Given the description of an element on the screen output the (x, y) to click on. 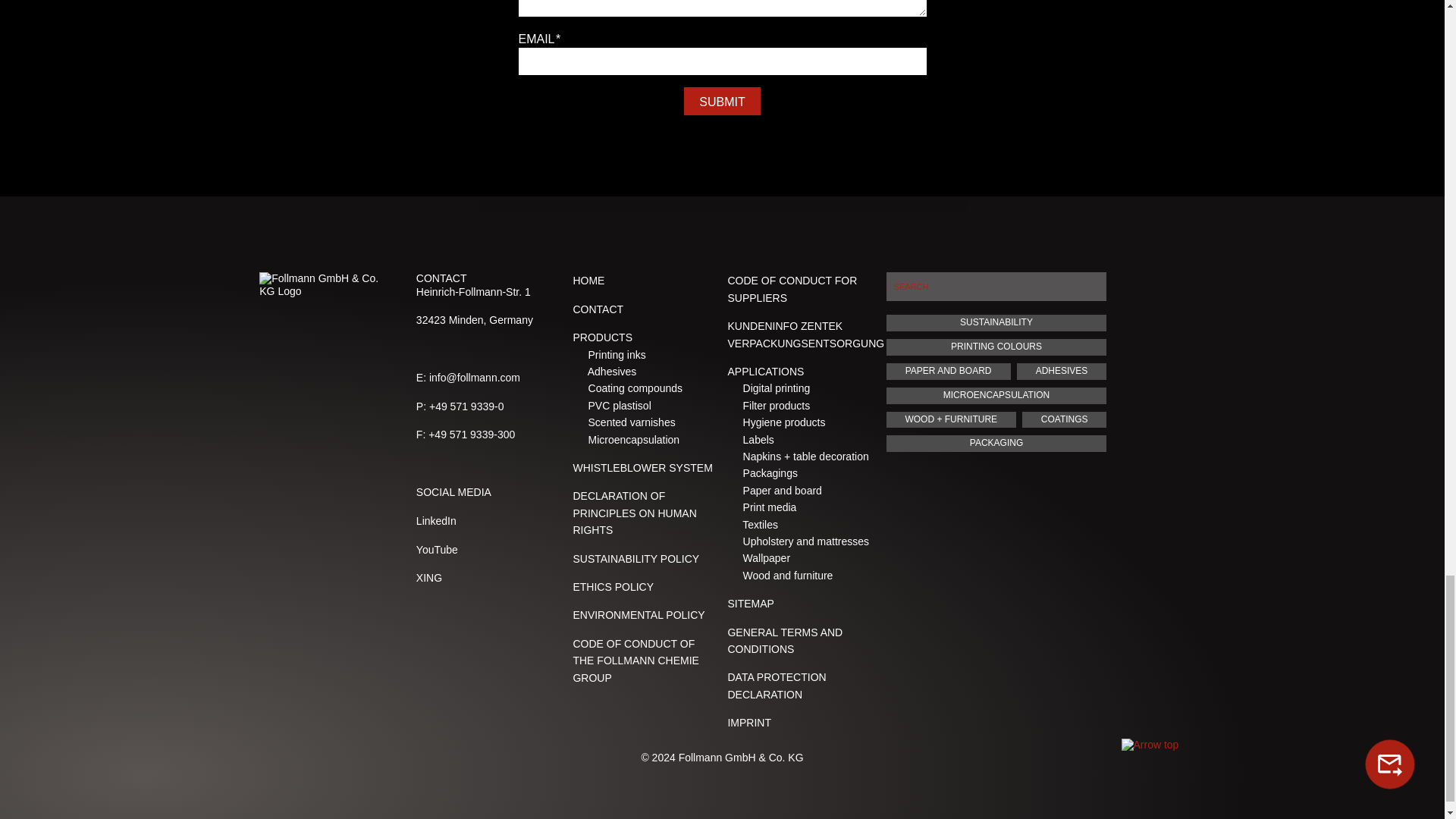
Submit (722, 100)
Follmann Chemie Reporting System (641, 467)
Environmental Policy of Follmann Chemie (638, 614)
Ethics Policy of Follmann Chemie (612, 586)
Sustainability Policy at Follmann Chemie (635, 558)
Enter the terms you wish to search for. (996, 286)
